Given the description of an element on the screen output the (x, y) to click on. 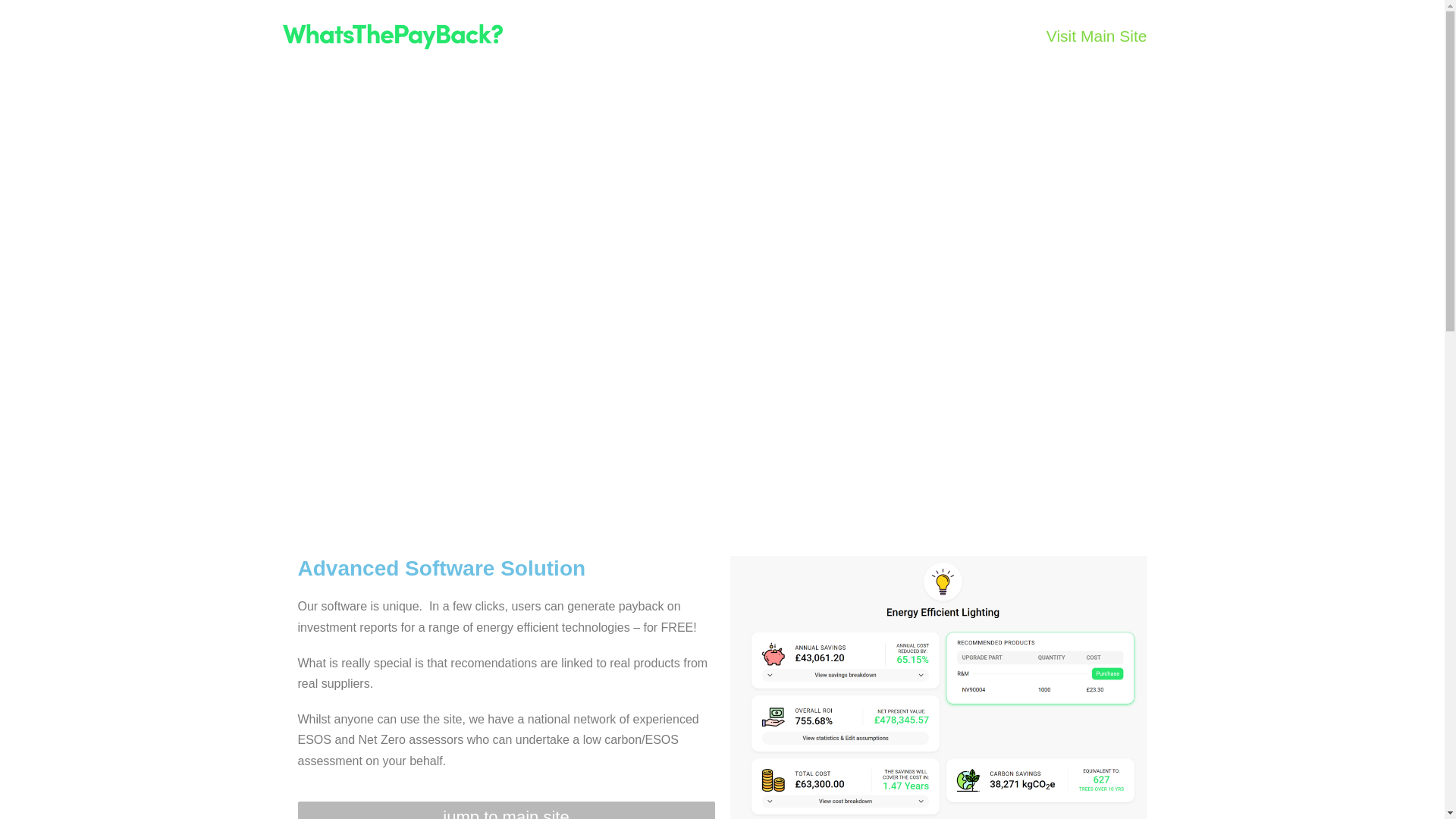
Visit Main Site (1095, 36)
What's The Payback? (392, 36)
jump to main site (505, 810)
